Given the description of an element on the screen output the (x, y) to click on. 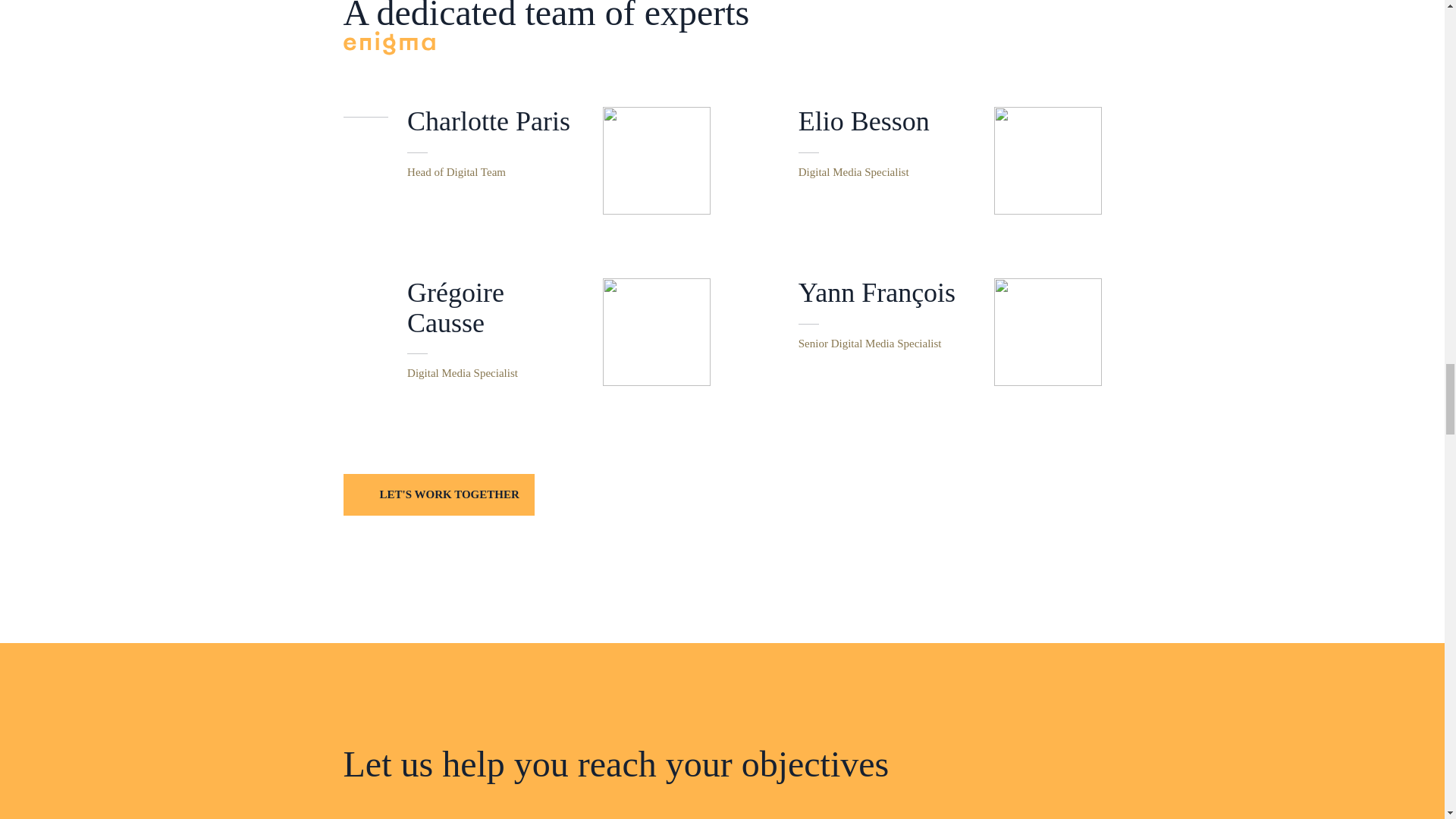
LET'S WORK TOGETHER (950, 160)
